Given the description of an element on the screen output the (x, y) to click on. 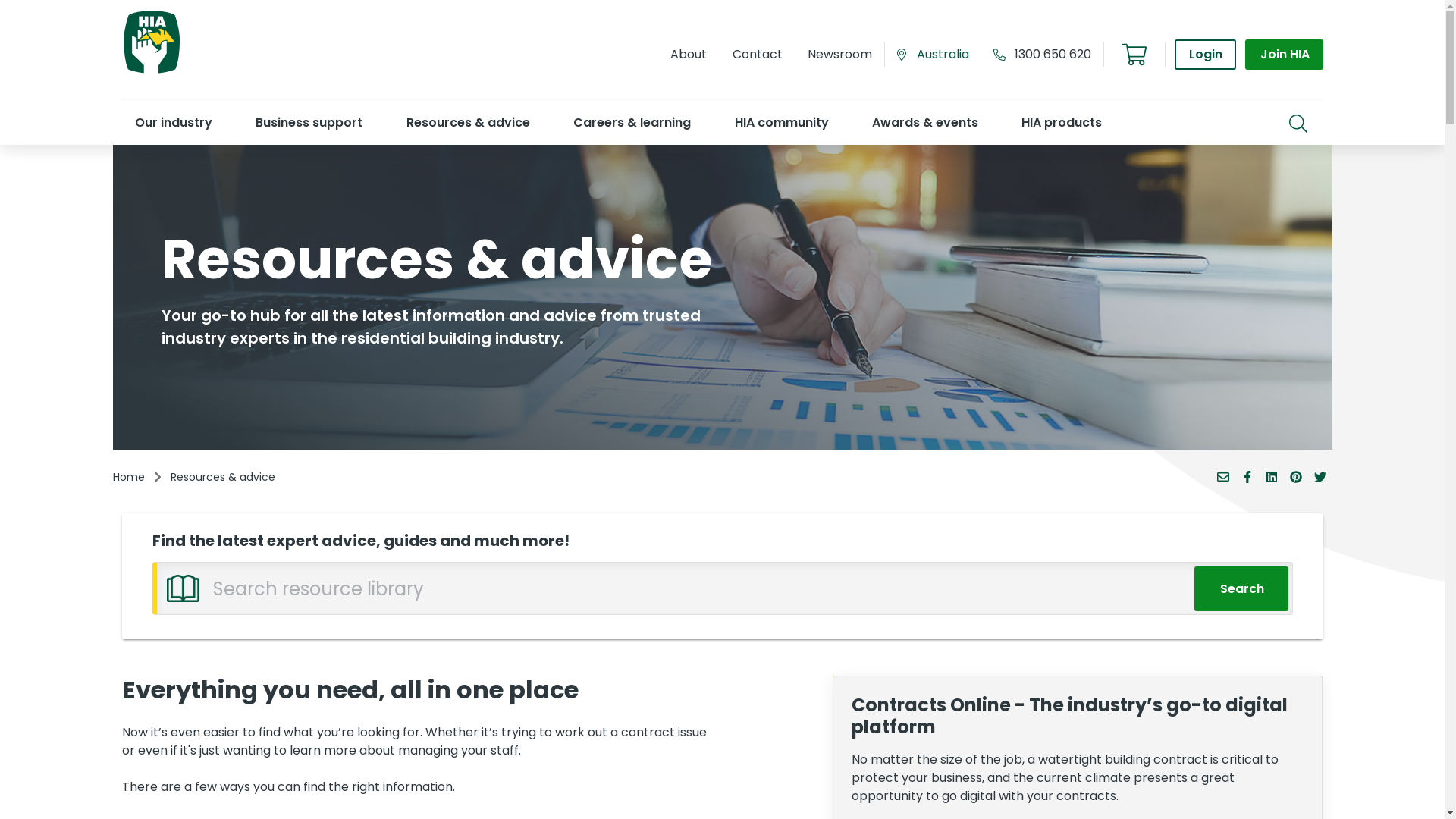
Login Element type: text (1205, 54)
Awards & events Element type: text (924, 122)
Careers & learning Element type: text (631, 122)
Contact Element type: text (755, 53)
HIA community Element type: text (780, 122)
1300 650 620 Element type: text (1052, 53)
HIA homepage Element type: hover (150, 71)
HIA products Element type: text (1060, 122)
About Element type: text (687, 53)
Australia Element type: text (938, 54)
Home Element type: text (128, 477)
Newsroom Element type: text (839, 53)
Business support Element type: text (308, 122)
Search Element type: text (1240, 588)
Join HIA Element type: text (1283, 54)
Resources & advice Element type: text (466, 122)
Our industry Element type: text (172, 122)
Resources & advice Element type: text (221, 477)
